Given the description of an element on the screen output the (x, y) to click on. 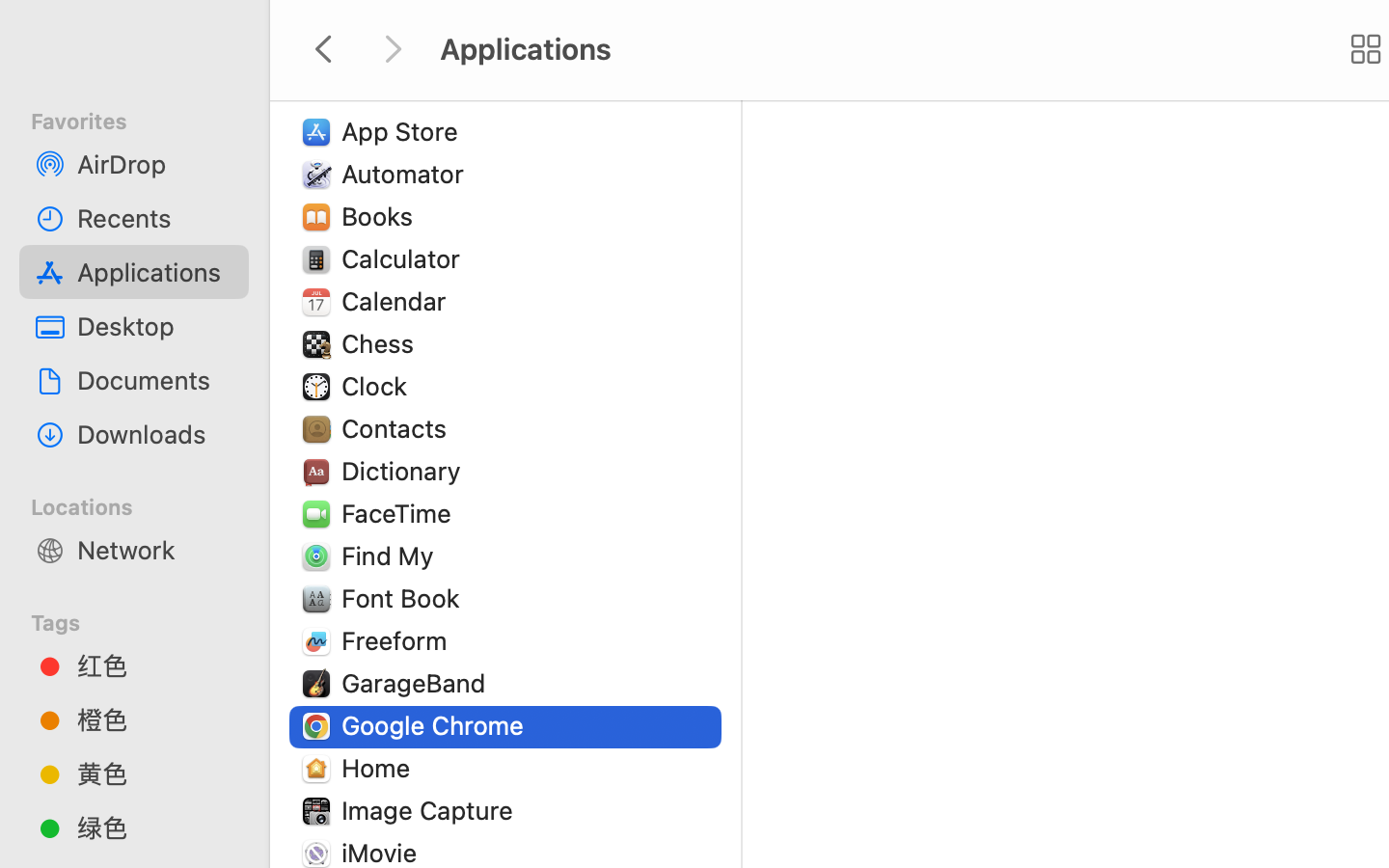
黄色 Element type: AXStaticText (155, 773)
Chess Element type: AXTextField (381, 342)
Network Element type: AXStaticText (155, 549)
AirDrop Element type: AXStaticText (155, 163)
Automator Element type: AXTextField (406, 173)
